Given the description of an element on the screen output the (x, y) to click on. 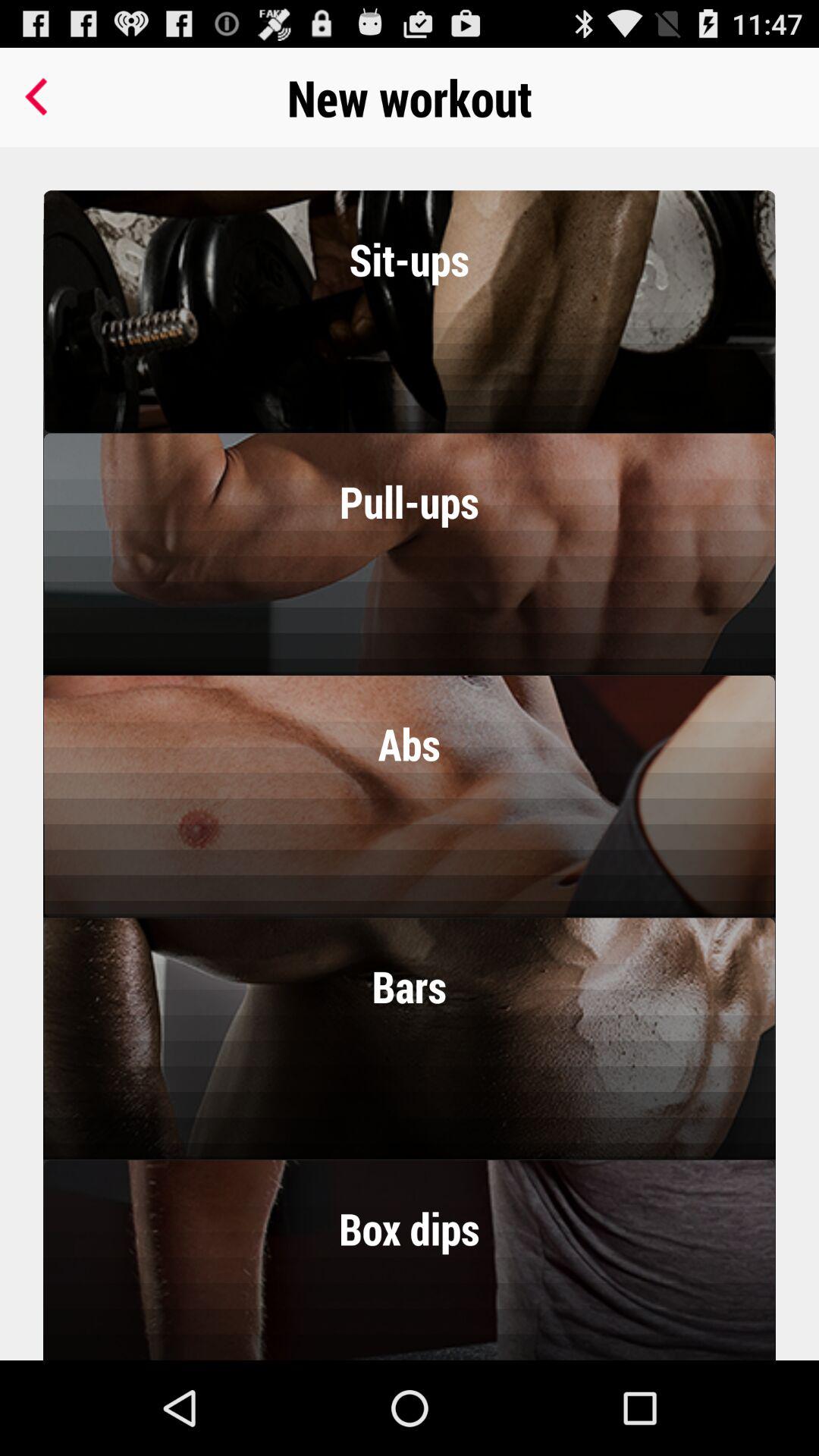
press the item at the top left corner (39, 97)
